Given the description of an element on the screen output the (x, y) to click on. 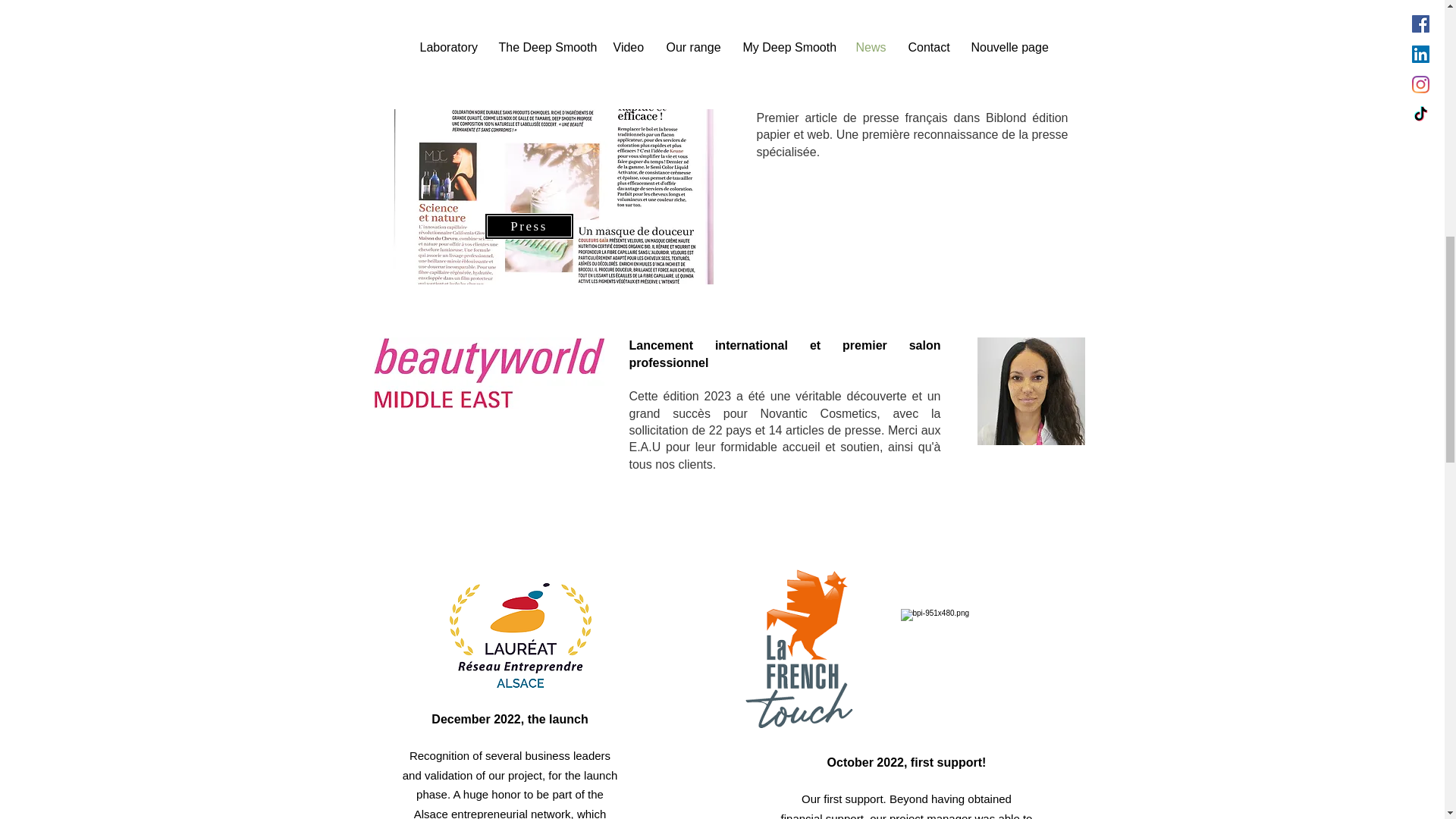
Press (528, 225)
